Given the description of an element on the screen output the (x, y) to click on. 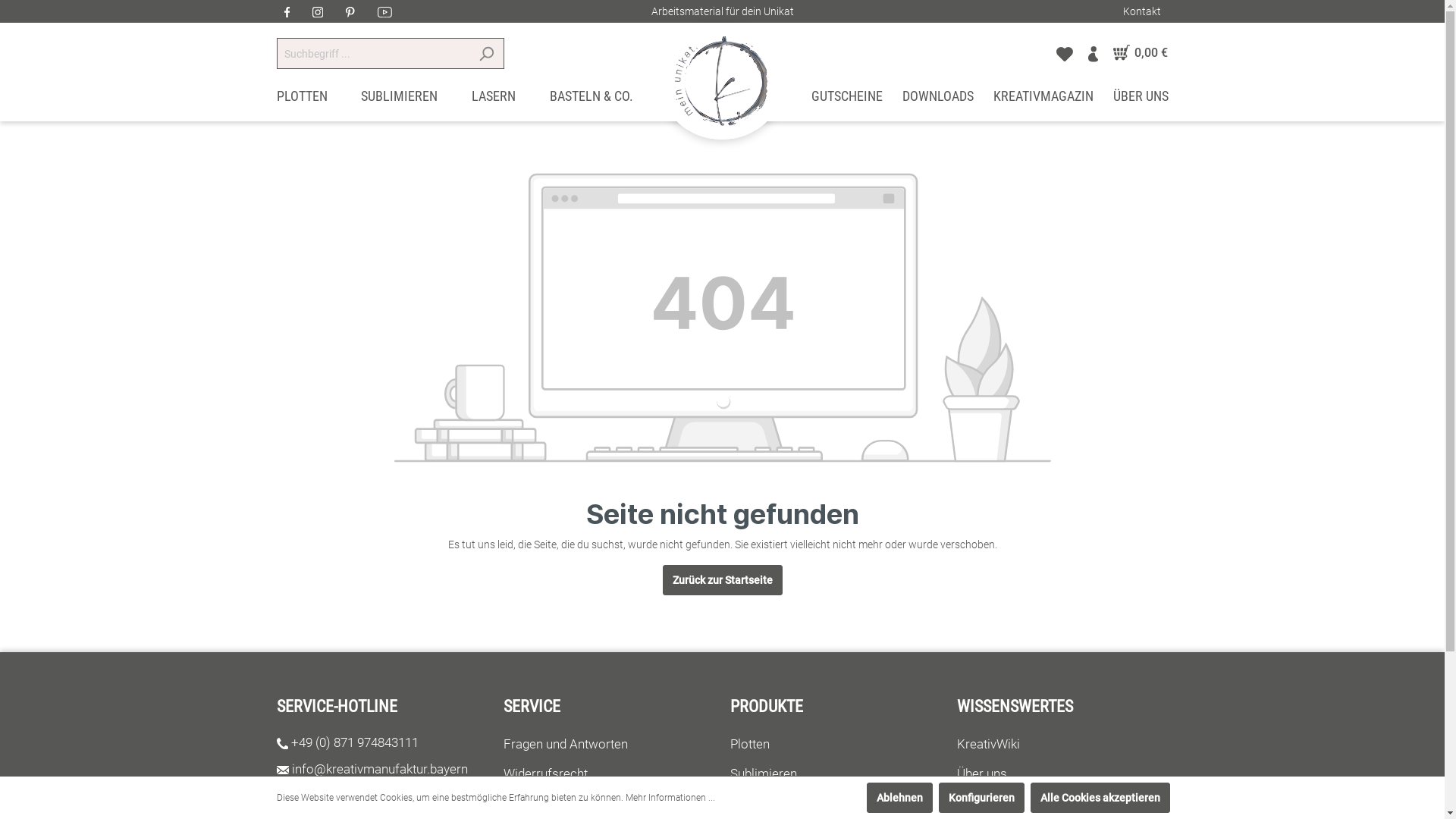
Alle Cookies akzeptieren Element type: text (1099, 797)
KREATIVMAGAZIN Element type: text (1043, 99)
Merkzettel Element type: hover (1064, 52)
Ablehnen Element type: text (898, 797)
Karriere Element type: text (979, 802)
Konfigurieren Element type: text (981, 797)
Fragen und Antworten Element type: text (565, 743)
Sublimieren Element type: text (762, 773)
PLOTTEN Element type: text (301, 99)
Versand und Zahlung Element type: text (562, 802)
Mehr Informationen ... Element type: text (669, 797)
Lasern Element type: text (748, 802)
LASERN Element type: text (493, 99)
KreativWiki Element type: text (988, 743)
Mein Konto Element type: hover (1091, 52)
info@kreativmanufaktur.bayern Element type: text (379, 768)
BASTELN & CO. Element type: text (591, 99)
GUTSCHEINE Element type: text (846, 99)
SUBLIMIEREN Element type: text (398, 99)
Kontakt Element type: text (1141, 10)
+49 (0) 871 974843111 Element type: text (354, 741)
Plotten Element type: text (748, 743)
Widerrufsrecht Element type: text (545, 773)
DOWNLOADS Element type: text (937, 99)
